Given the description of an element on the screen output the (x, y) to click on. 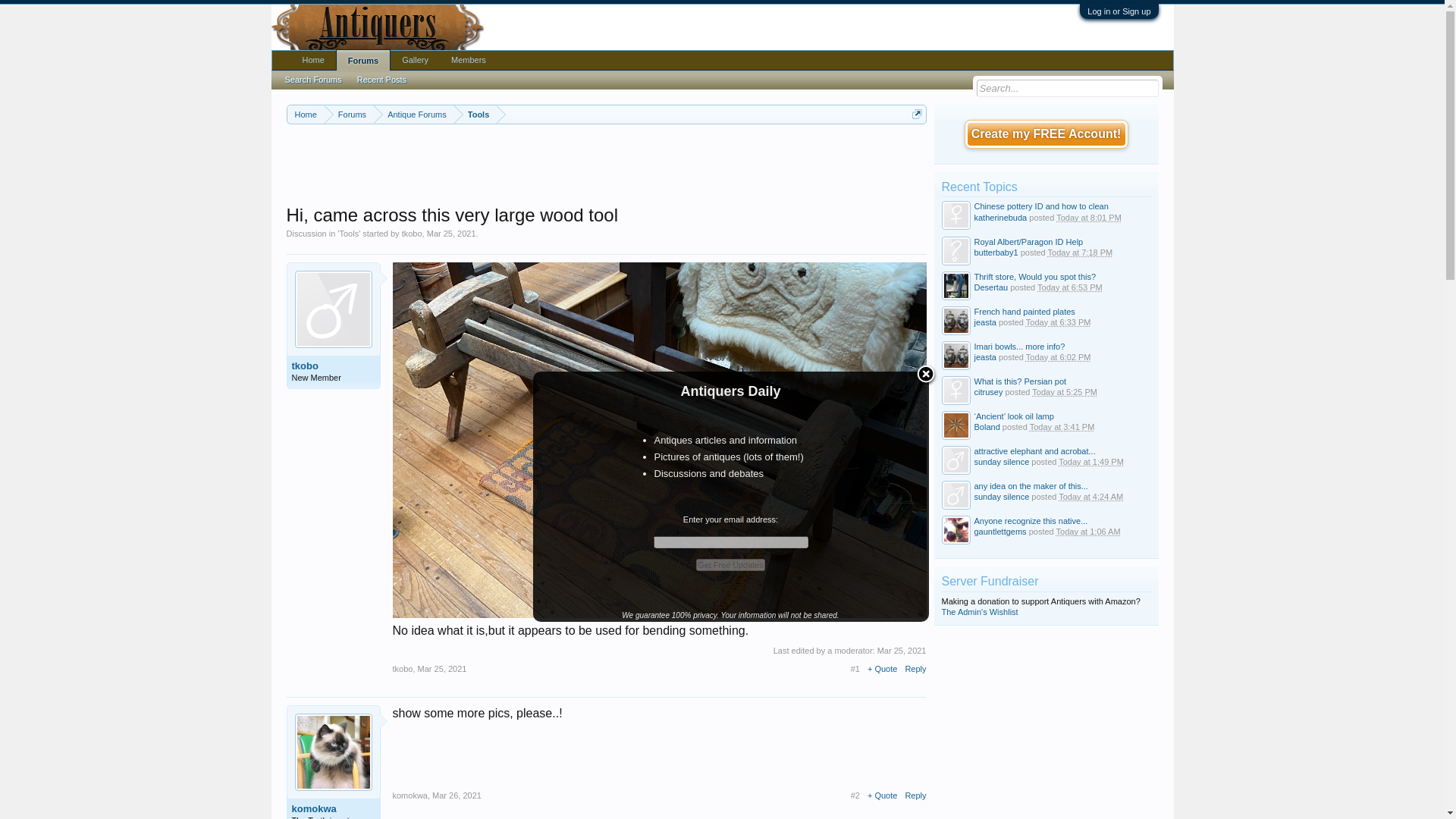
Mar 26, 2021 (456, 795)
Mar 25, 2021 at 4:16 PM (451, 233)
Antique Forums (414, 114)
Mar 25, 2021 at 5:12 PM (901, 650)
Toggle Multi-Quote (881, 795)
Get Free Updates (729, 564)
Get Free Updates (729, 564)
Log in or Sign up (1118, 10)
Reply, quoting this message (915, 668)
komokwa (332, 808)
Toggle Multi-Quote (881, 668)
Advertisement (606, 165)
Reply (915, 668)
Permalink (456, 795)
Permalink (442, 668)
